Given the description of an element on the screen output the (x, y) to click on. 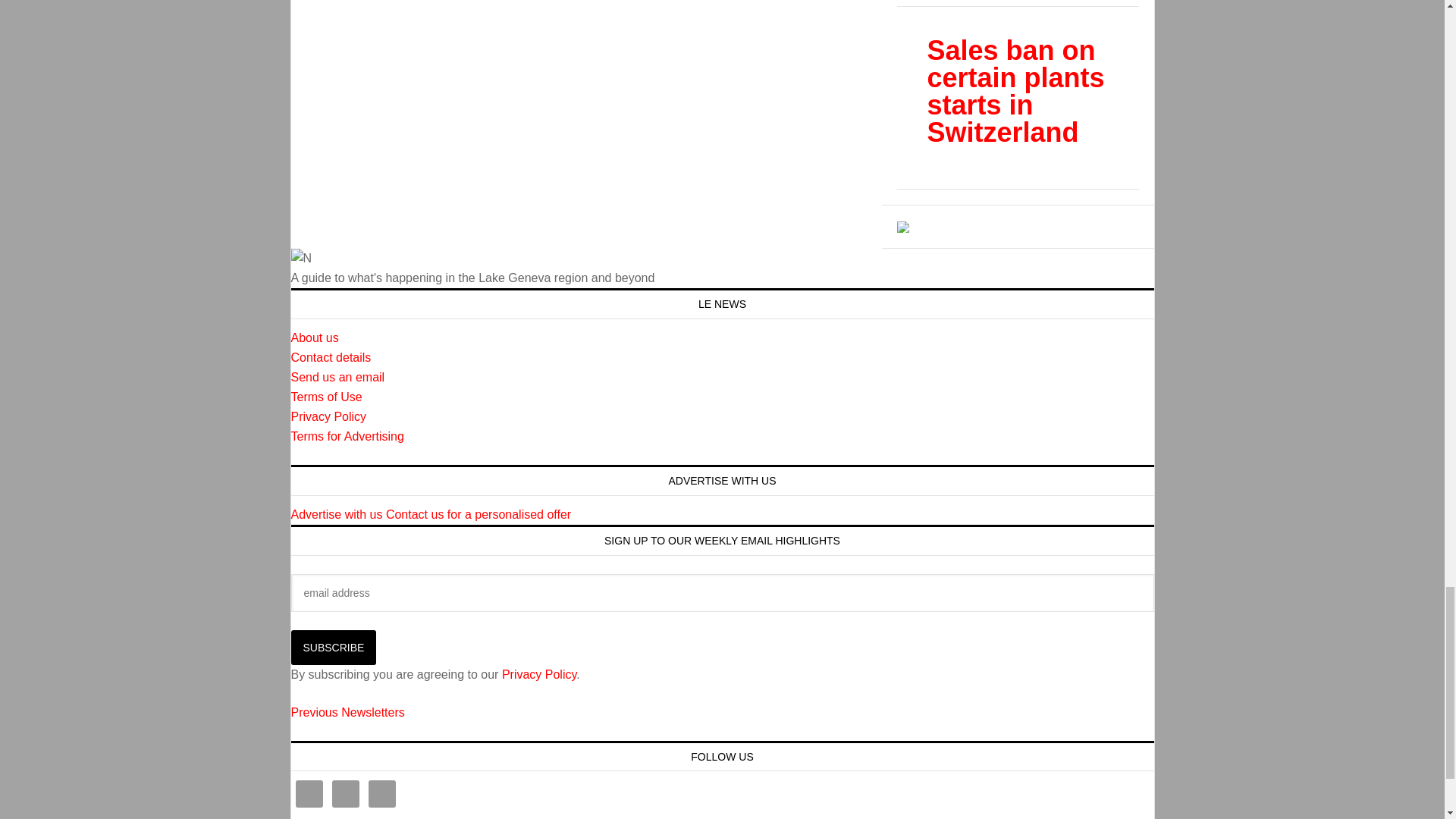
Subscribe (334, 647)
Advertising Terms and Conditions (347, 436)
Privacy Policy (328, 416)
CONTACT (331, 357)
ABOUT US (315, 337)
Previous Newsletters (347, 712)
Terms and Conditions (326, 396)
